Given the description of an element on the screen output the (x, y) to click on. 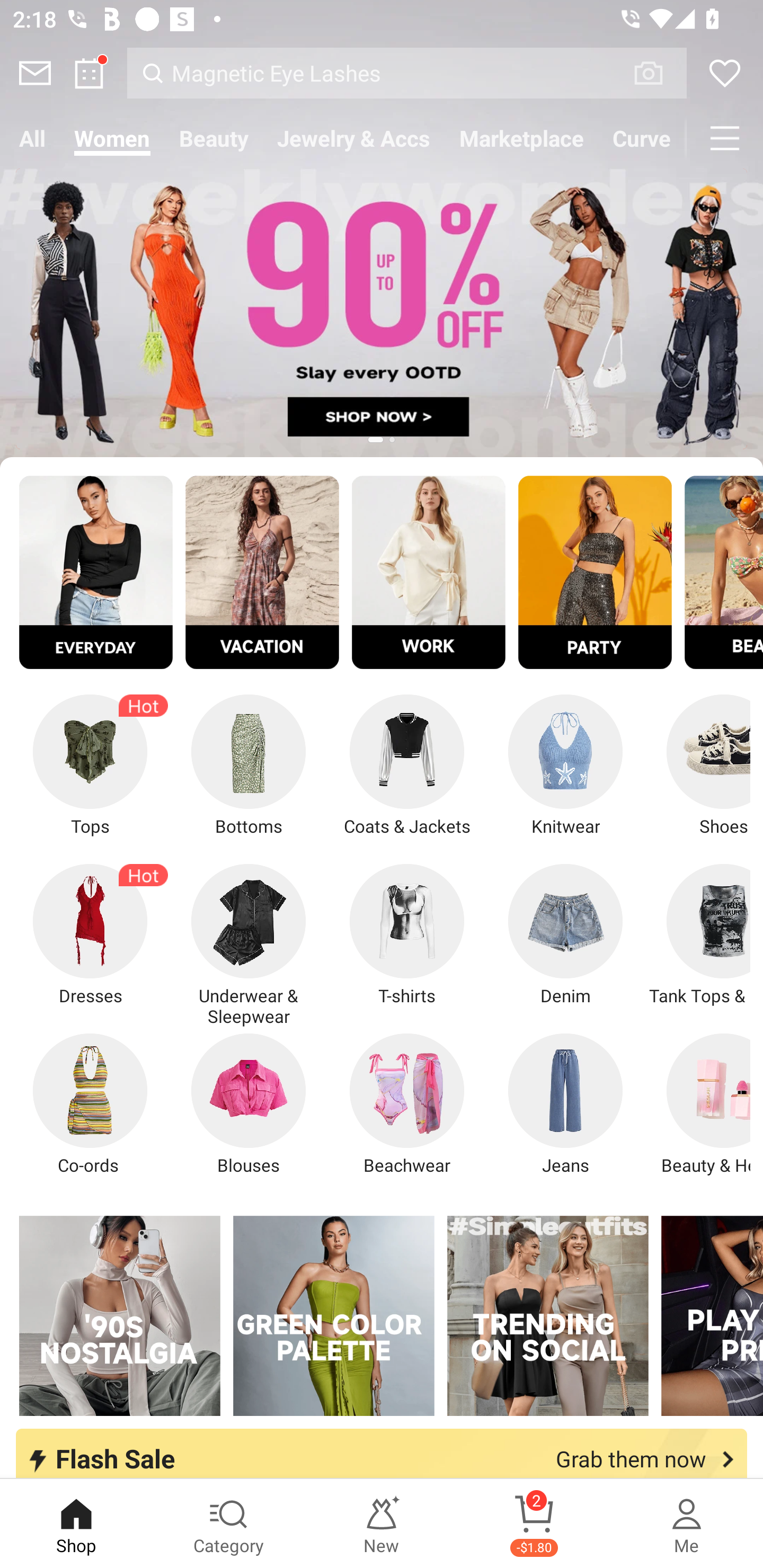
Wishlist (724, 72)
VISUAL SEARCH (657, 72)
All (31, 137)
Women (111, 137)
Beauty (213, 137)
Jewelry & Accs (353, 137)
Marketplace (521, 137)
Curve (641, 137)
Tops (89, 765)
Bottoms (248, 765)
Coats & Jackets (406, 765)
Knitwear (565, 765)
Shoes (698, 765)
Dresses (89, 934)
Underwear & Sleepwear (248, 945)
T-shirts (406, 934)
Denim (565, 934)
Tank Tops & Camis (698, 934)
Co-ords  (89, 1104)
Blouses (248, 1104)
Beachwear (406, 1104)
Jeans (565, 1104)
Beauty & Health (698, 1104)
Category (228, 1523)
New (381, 1523)
Cart 2 -$1.80 (533, 1523)
Me (686, 1523)
